Given the description of an element on the screen output the (x, y) to click on. 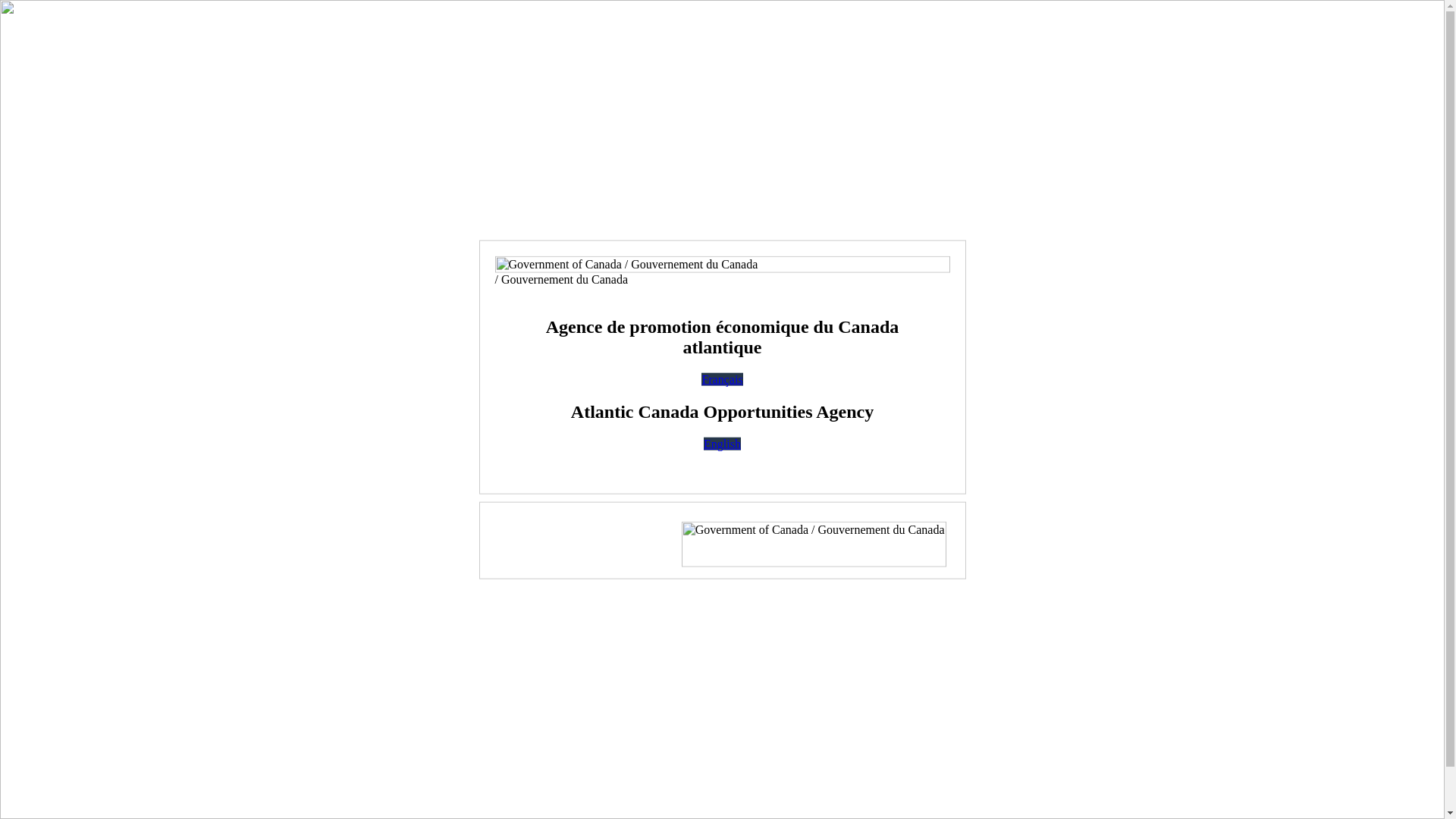
English Element type: text (721, 442)
